Given the description of an element on the screen output the (x, y) to click on. 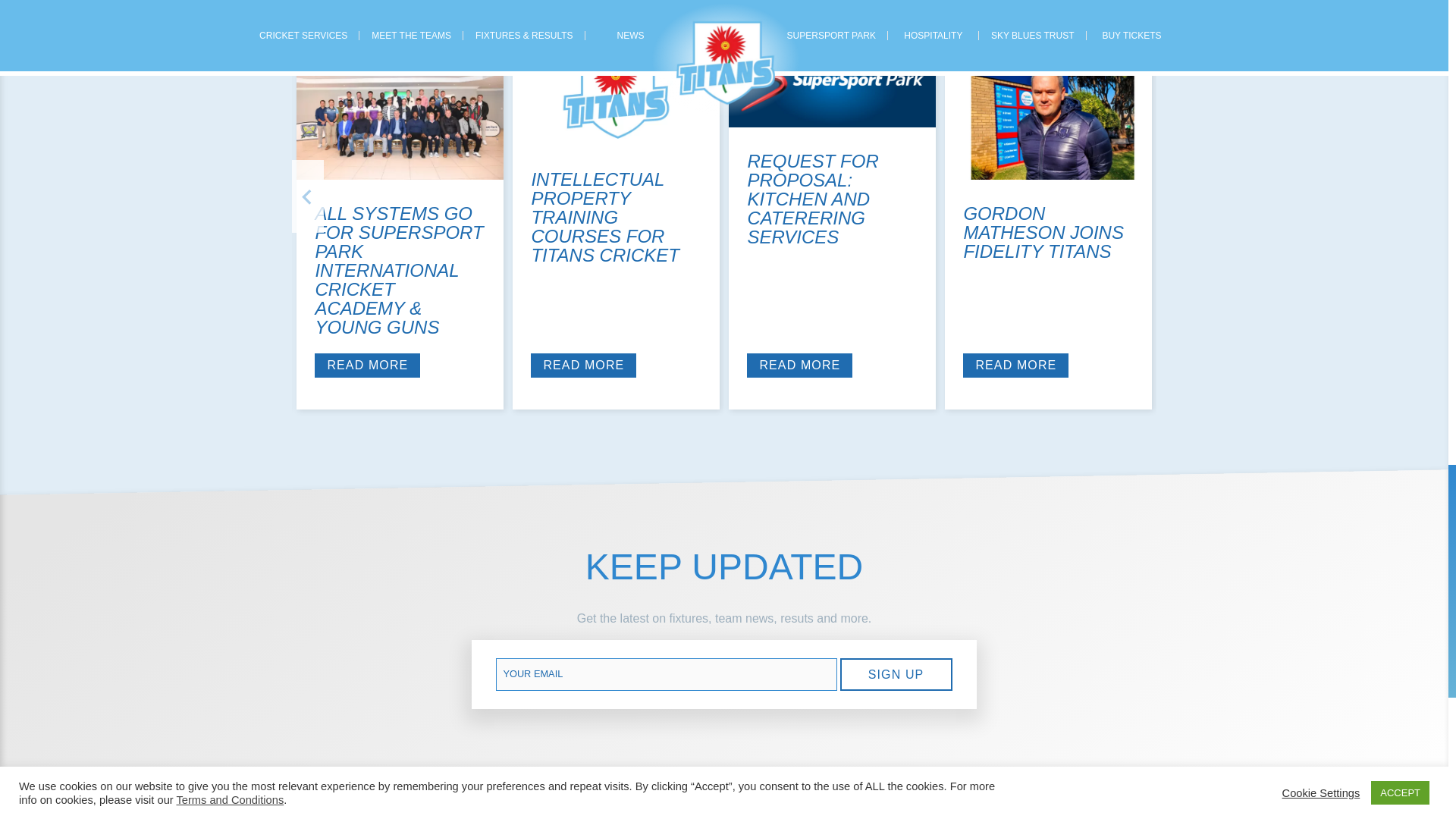
Features (545, 54)
SIGN UP (896, 674)
Features (330, 54)
previous (307, 195)
VIEW ALL NEWS (1073, 5)
Features (761, 54)
Features (978, 54)
